Given the description of an element on the screen output the (x, y) to click on. 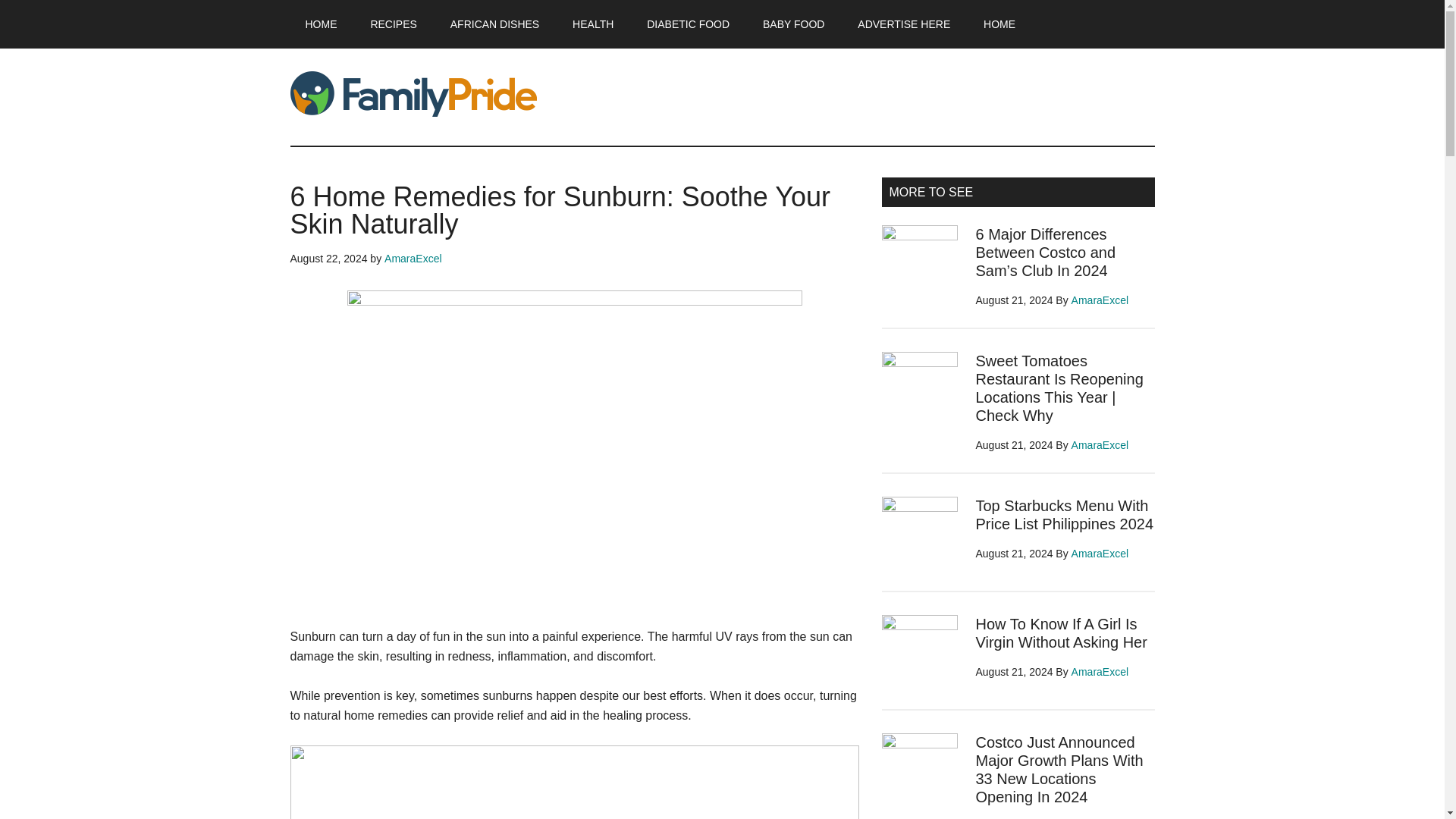
BABY FOOD (794, 24)
RECIPES (392, 24)
AFRICAN DISHES (494, 24)
AmaraExcel (1099, 553)
HEALTH (592, 24)
Top Starbucks Menu With Price List Philippines 2024 (1064, 514)
DIABETIC FOOD (687, 24)
AmaraExcel (1099, 300)
